Given the description of an element on the screen output the (x, y) to click on. 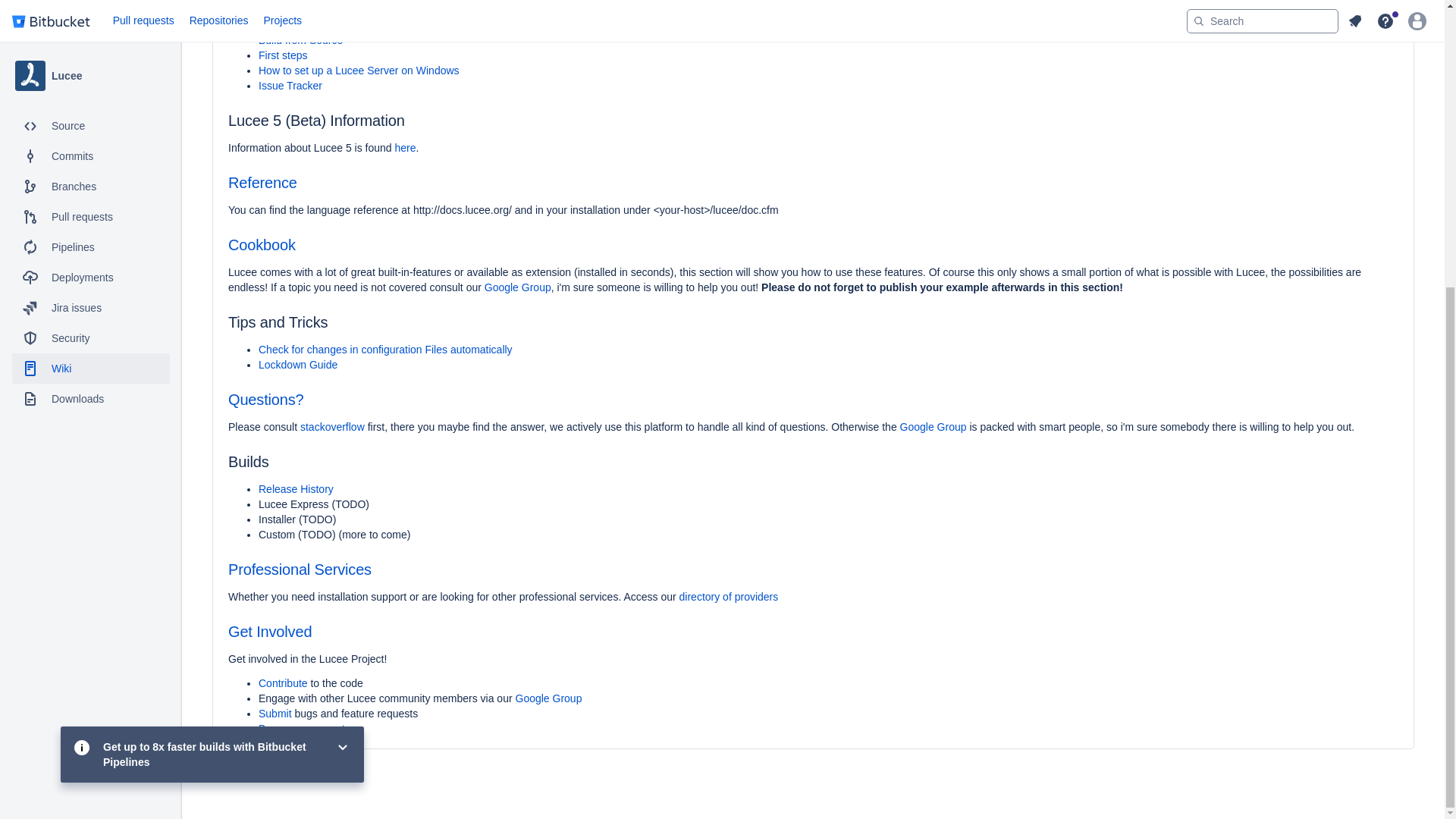
Release Changelogs (307, 9)
First steps (283, 55)
5 August 2015 01:19 (283, 765)
Build from Source (300, 39)
How to set up a Lucee Server on Windows (359, 70)
